Given the description of an element on the screen output the (x, y) to click on. 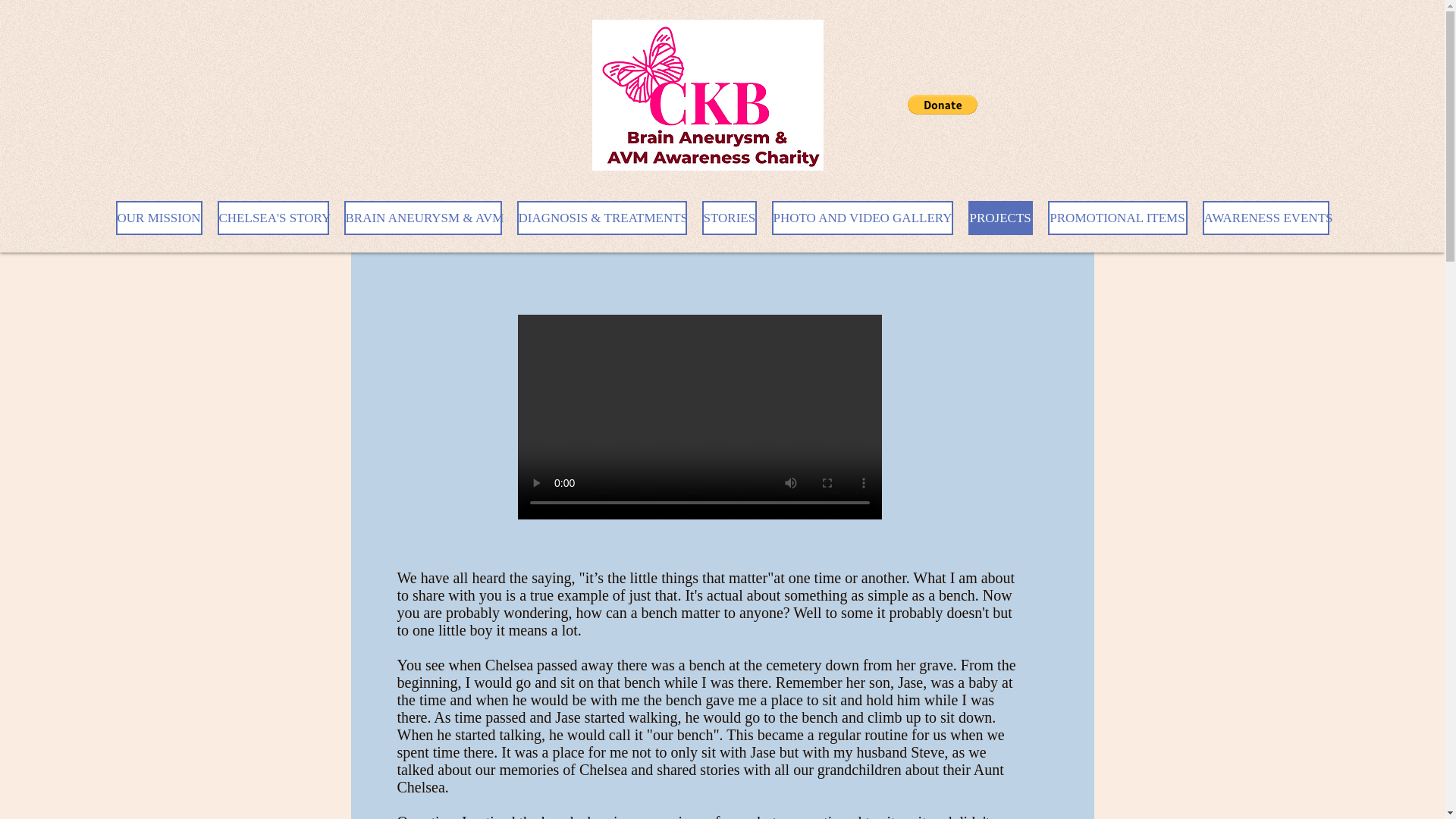
PHOTO AND VIDEO GALLERY (862, 217)
PROMOTIONAL ITEMS (1118, 217)
STORIES (729, 217)
CHELSEA'S STORY (272, 217)
PROJECTS (1000, 217)
OUR MISSION (158, 217)
